Given the description of an element on the screen output the (x, y) to click on. 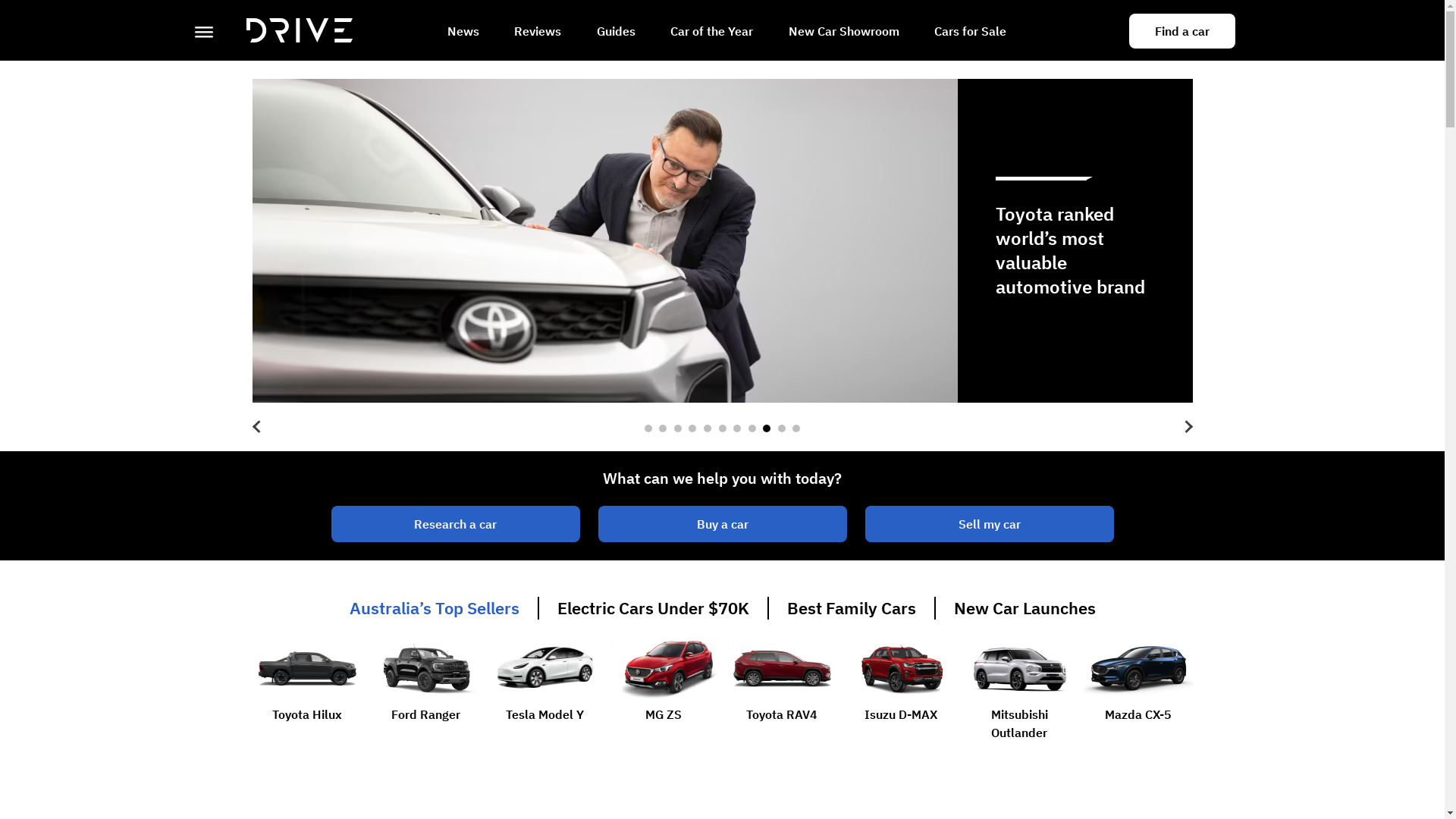
Car of the Year Element type: text (711, 33)
Sell my car Element type: text (988, 523)
Mitsubishi Outlander Element type: text (1019, 692)
Cars for Sale Element type: text (970, 33)
Buy a car Element type: text (721, 523)
Isuzu D-MAX Element type: text (900, 692)
Toyota RAV4 Element type: text (781, 692)
Research a car Element type: text (454, 523)
Toyota Hilux Element type: text (306, 692)
Next Element type: text (1180, 426)
Ford Ranger Element type: text (425, 692)
Reviews Element type: text (537, 33)
Tesla Model Y Element type: text (544, 692)
Guides Element type: text (615, 33)
Mazda CX-5 Element type: text (1137, 692)
News Element type: text (463, 33)
Find a car Element type: text (1181, 30)
MG ZS Element type: text (663, 692)
Previous Element type: text (263, 426)
New Car Showroom Element type: text (843, 33)
How to attach a trailer to your car Element type: text (721, 240)
